Given the description of an element on the screen output the (x, y) to click on. 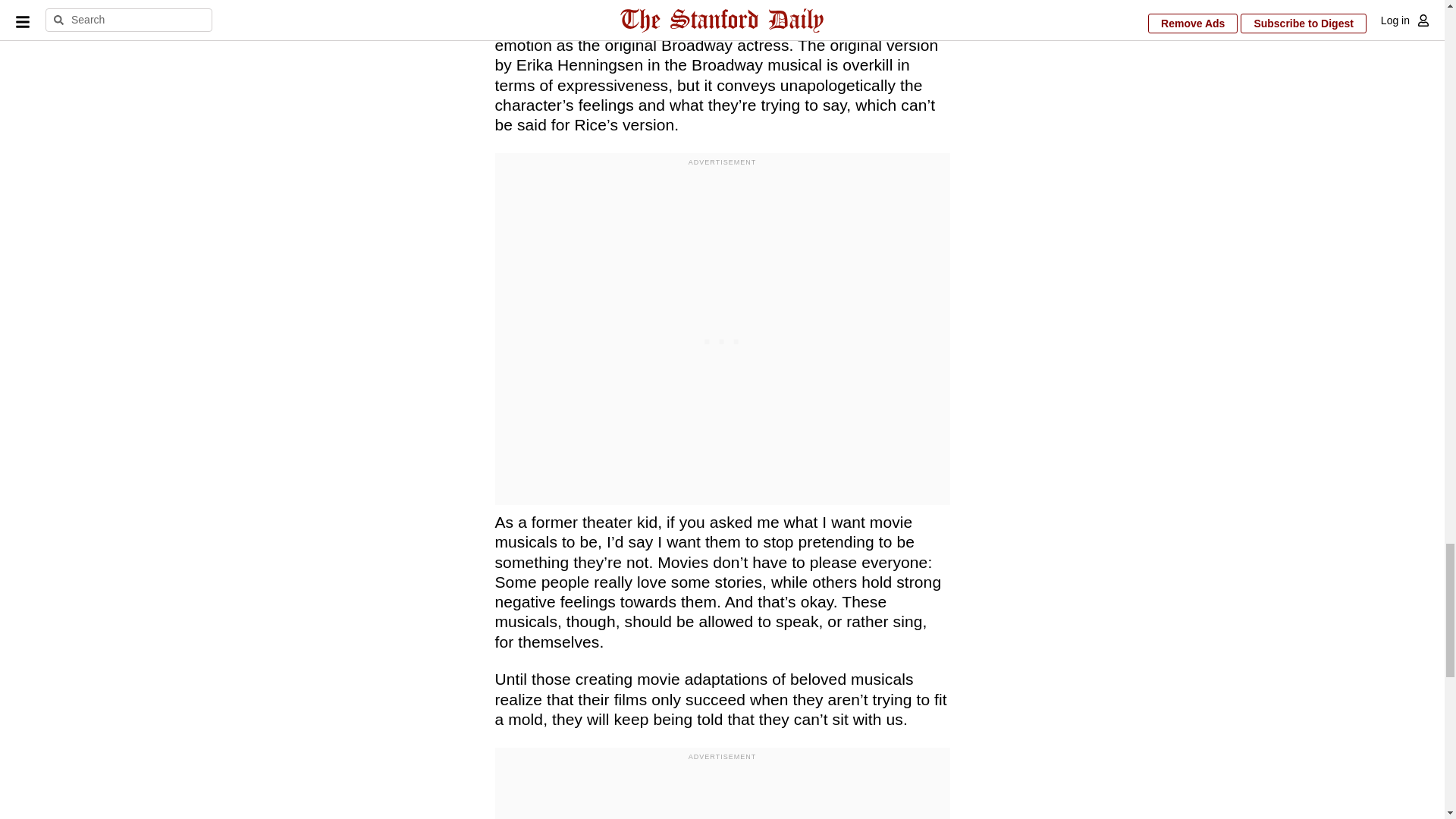
original (874, 7)
